Given the description of an element on the screen output the (x, y) to click on. 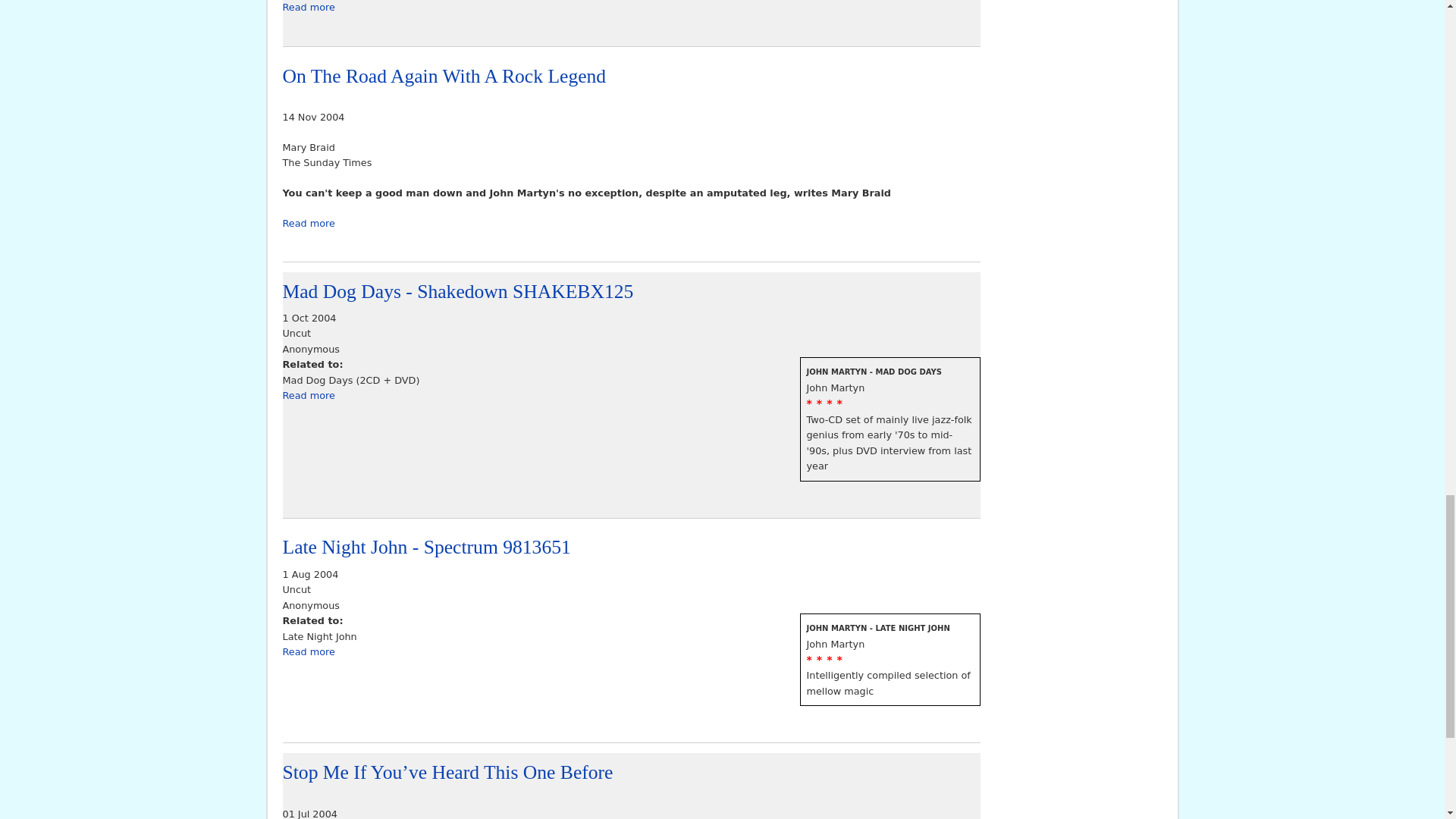
Mad Dog Days - Shakedown SHAKEBX125 (457, 291)
Late Night John - Spectrum 9813651 (308, 223)
On The Road Again With A Rock Legend (426, 546)
